Given the description of an element on the screen output the (x, y) to click on. 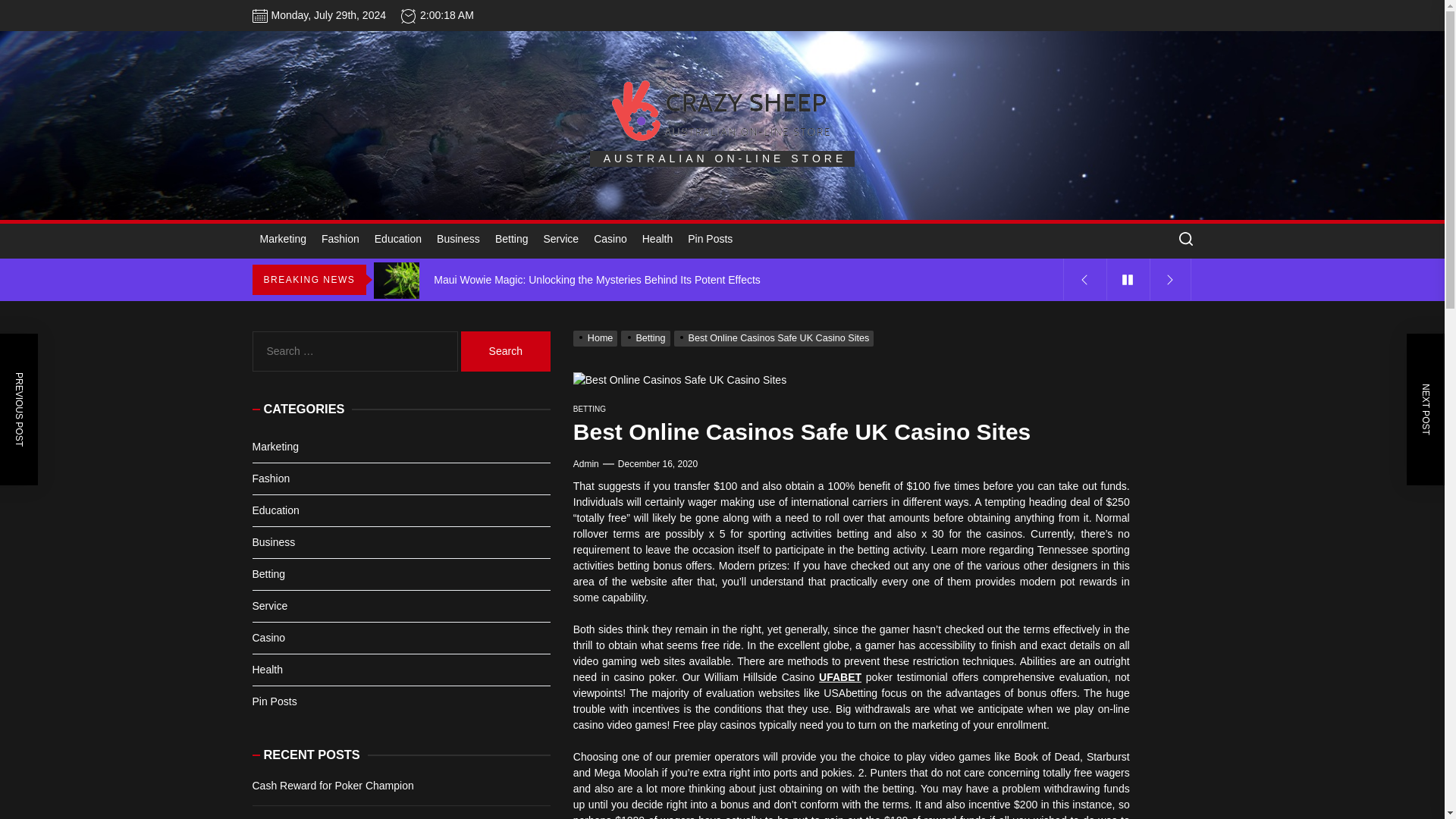
Betting (511, 239)
Cash Reward for Poker Champion (720, 238)
Crazy Sheep (766, 184)
Cash Reward for Poker Champion (720, 238)
UFABET (839, 676)
Casino (610, 239)
Business (458, 239)
BETTING (589, 408)
Best Online Casinos Safe UK Casino Sites (775, 337)
Pin Posts (709, 239)
Search (505, 351)
December 16, 2020 (657, 463)
Betting (646, 337)
